Given the description of an element on the screen output the (x, y) to click on. 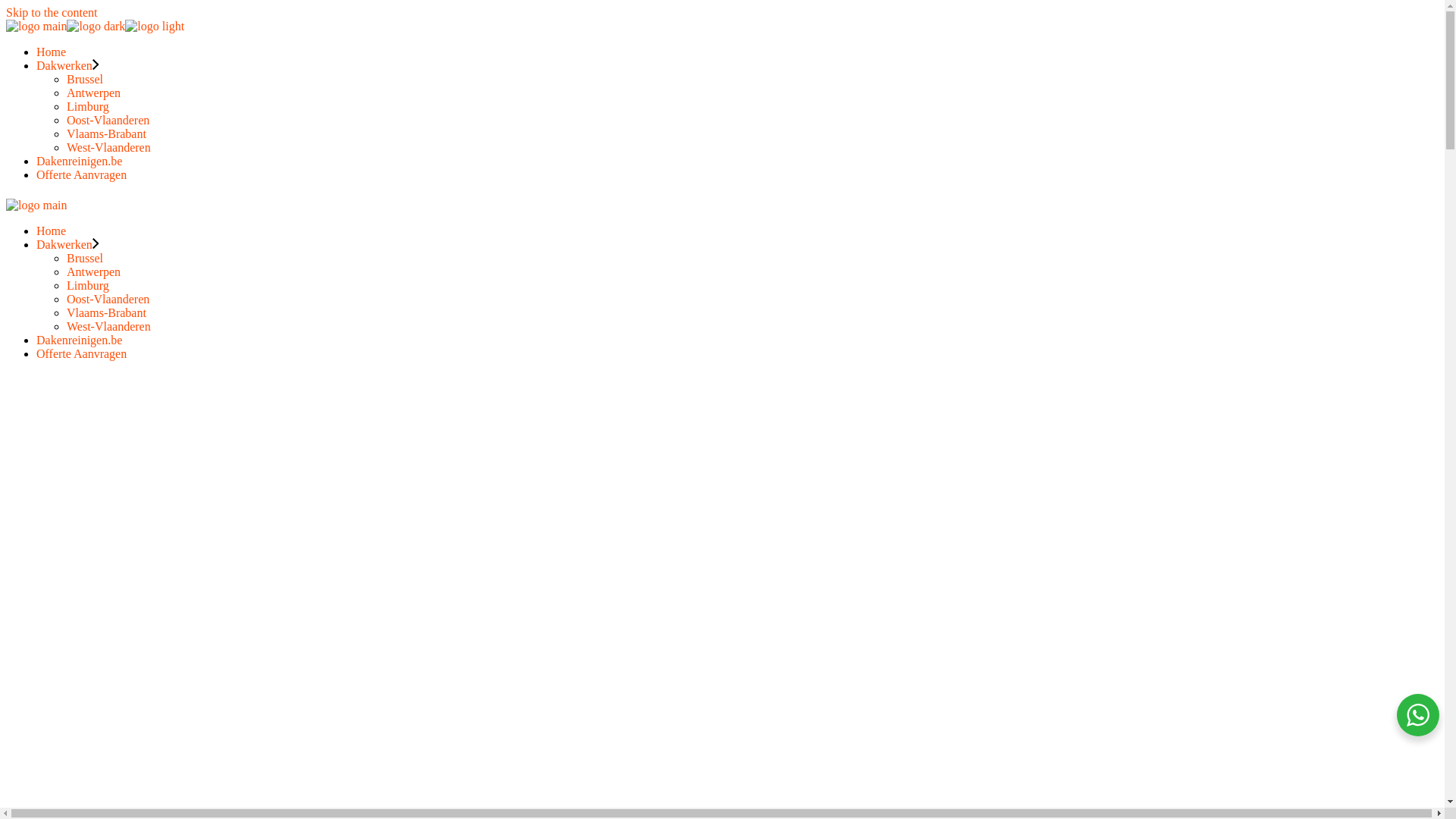
West-Vlaanderen Element type: text (108, 326)
Oost-Vlaanderen Element type: text (107, 119)
Offerte Aanvragen Element type: text (81, 174)
Dakenreinigen.be Element type: text (79, 160)
Dakwerken Element type: text (67, 65)
Antwerpen Element type: text (93, 271)
Offerte Aanvragen Element type: text (81, 353)
Dakwerken Element type: text (64, 244)
West-Vlaanderen Element type: text (108, 147)
Antwerpen Element type: text (93, 92)
Home Element type: text (50, 51)
Brussel Element type: text (84, 78)
Limburg Element type: text (87, 106)
Home Element type: text (50, 230)
Vlaams-Brabant Element type: text (106, 133)
Limburg Element type: text (87, 285)
Brussel Element type: text (84, 257)
Dakenreinigen.be Element type: text (79, 339)
Oost-Vlaanderen Element type: text (107, 298)
Skip to the content Element type: text (51, 12)
Vlaams-Brabant Element type: text (106, 312)
